Given the description of an element on the screen output the (x, y) to click on. 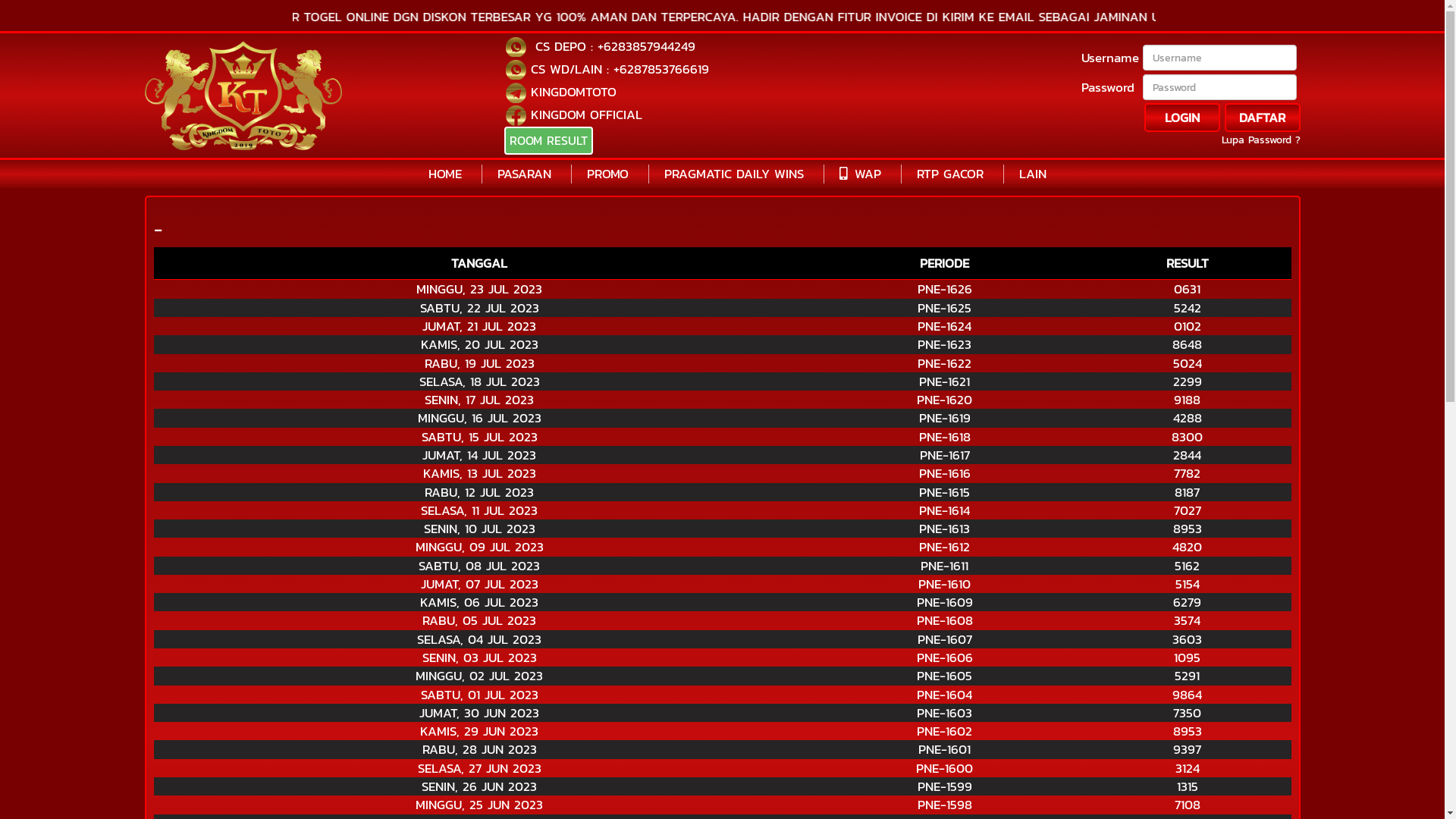
CS DEPO : +6283857944249 Element type: text (612, 46)
PROMO Element type: text (607, 173)
PASARAN Element type: text (524, 173)
LOGIN Element type: text (1181, 117)
ROOM RESULT Element type: text (548, 140)
DAFTAR Element type: text (1261, 117)
RTP GACOR Element type: text (949, 173)
KINGDOM OFFICIAL Element type: text (586, 114)
HOME Element type: text (444, 173)
KINGDOMTOTO Element type: text (573, 91)
WAP Element type: text (860, 173)
Lupa Password ? Element type: text (1259, 139)
LAIN Element type: text (1032, 173)
PRAGMATIC DAILY WINS Element type: text (733, 173)
CS WD/LAIN : +6287853766619 Element type: text (619, 68)
